Given the description of an element on the screen output the (x, y) to click on. 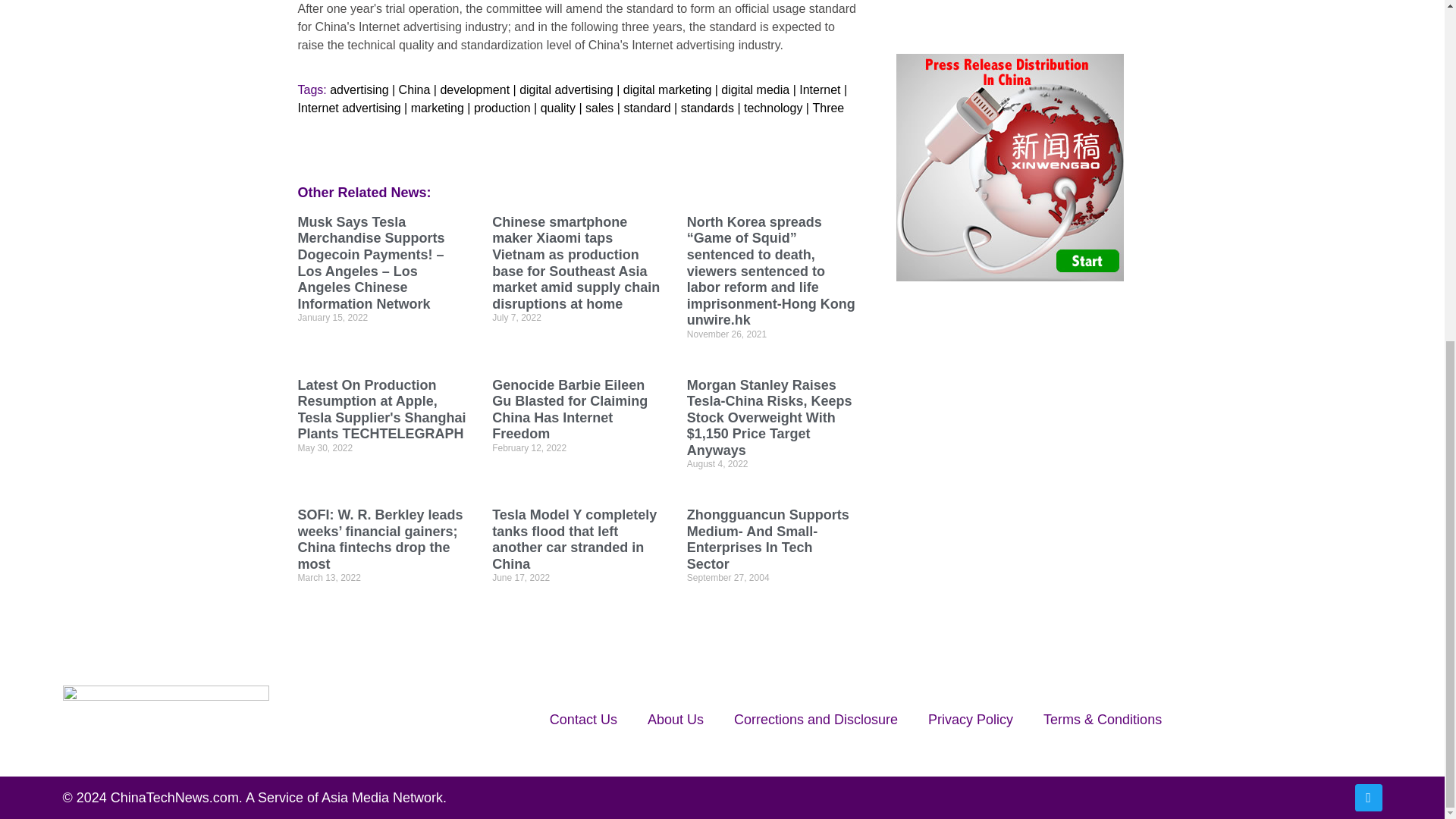
digital media (754, 90)
digital marketing (667, 90)
advertising (359, 90)
quality (557, 108)
China (414, 90)
Internet (819, 90)
sales (598, 108)
marketing (437, 108)
